Given the description of an element on the screen output the (x, y) to click on. 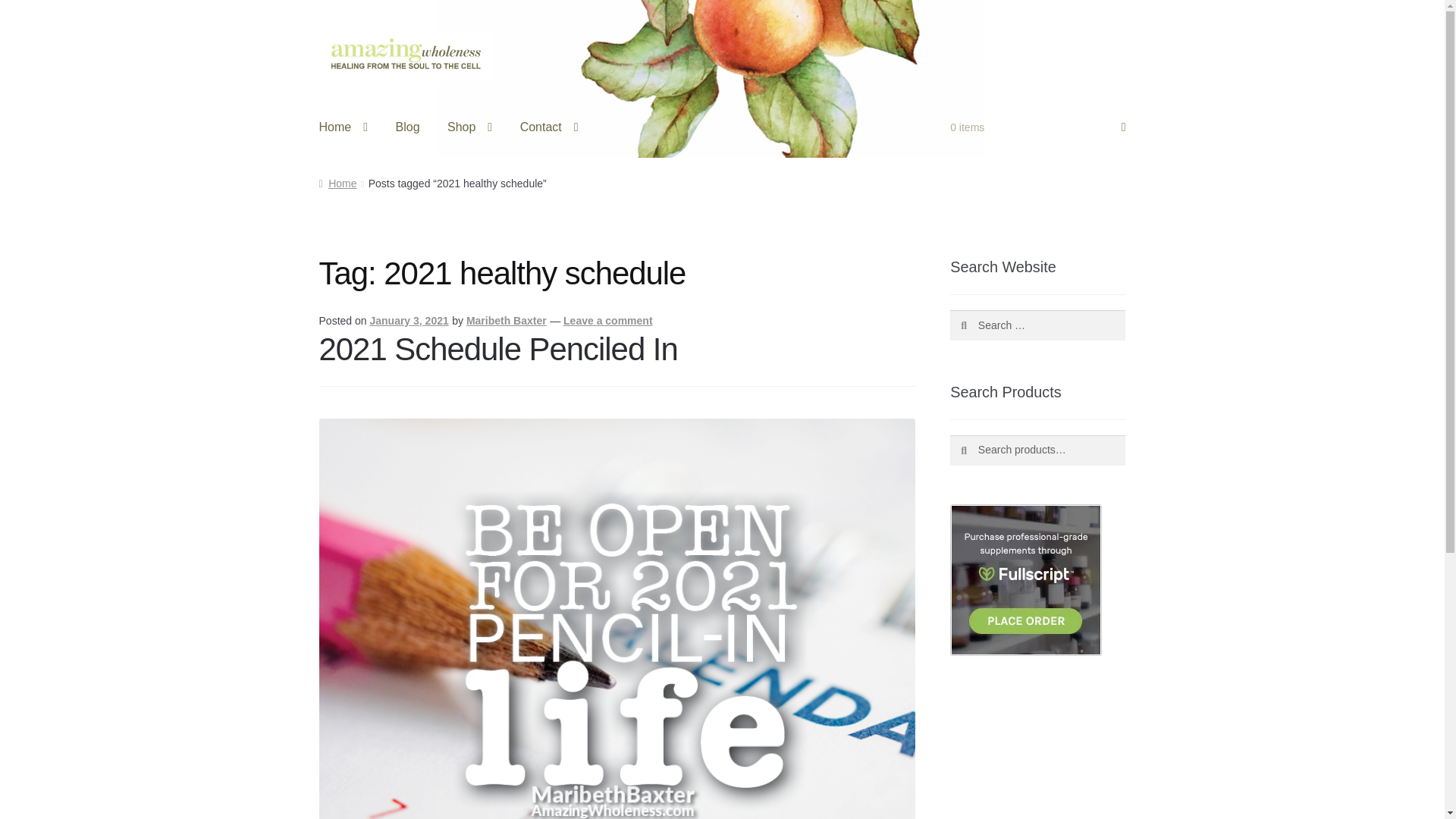
Contact (549, 128)
View your shopping cart (1037, 128)
Home (343, 128)
Shop (469, 128)
